Given the description of an element on the screen output the (x, y) to click on. 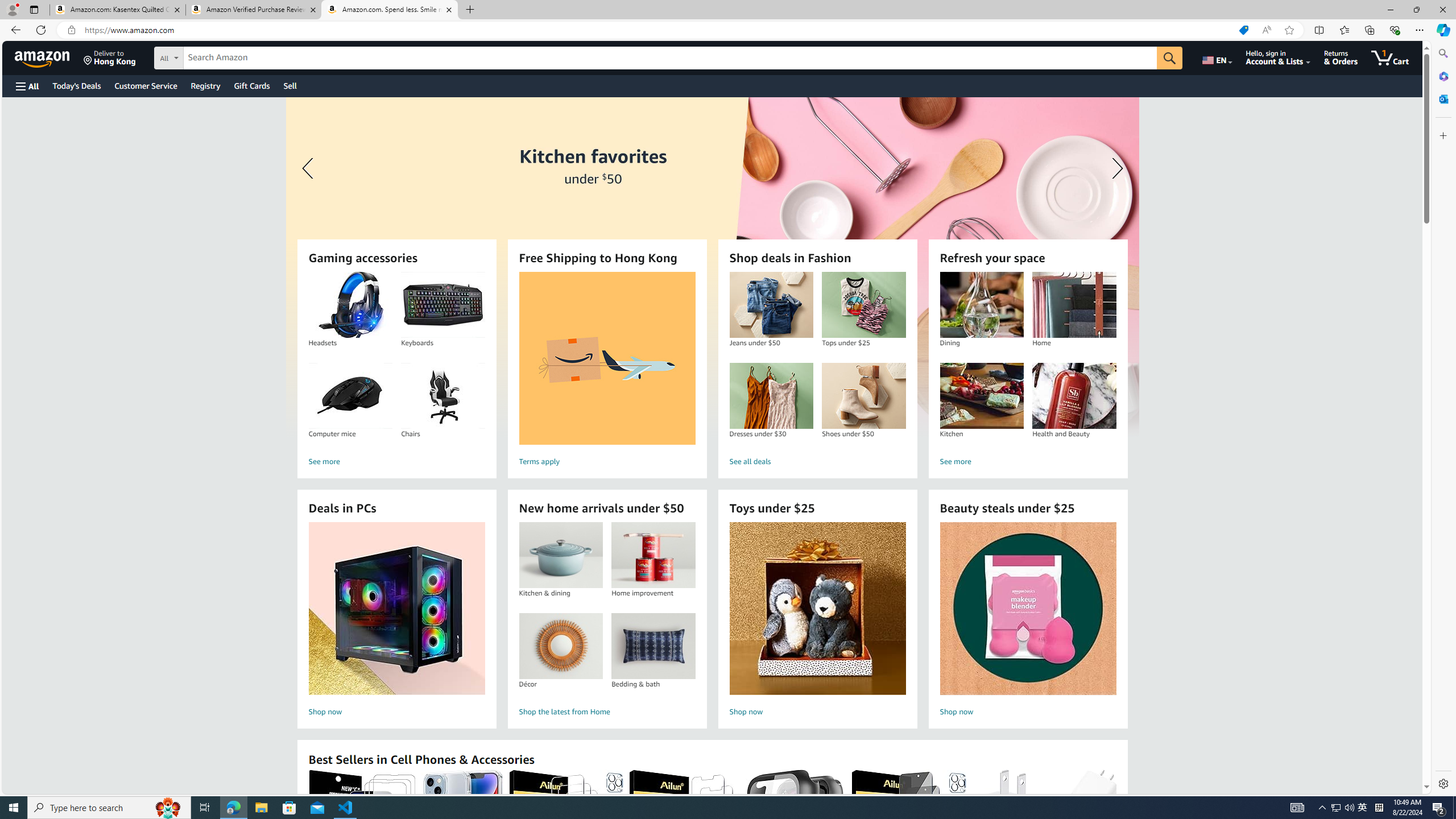
Amazon.com. Spend less. Smile more. (390, 9)
Shop the latest from Home (606, 712)
Go (1169, 57)
Amazon Verified Purchase Reviews - Amazon Customer Service (253, 9)
